Given the description of an element on the screen output the (x, y) to click on. 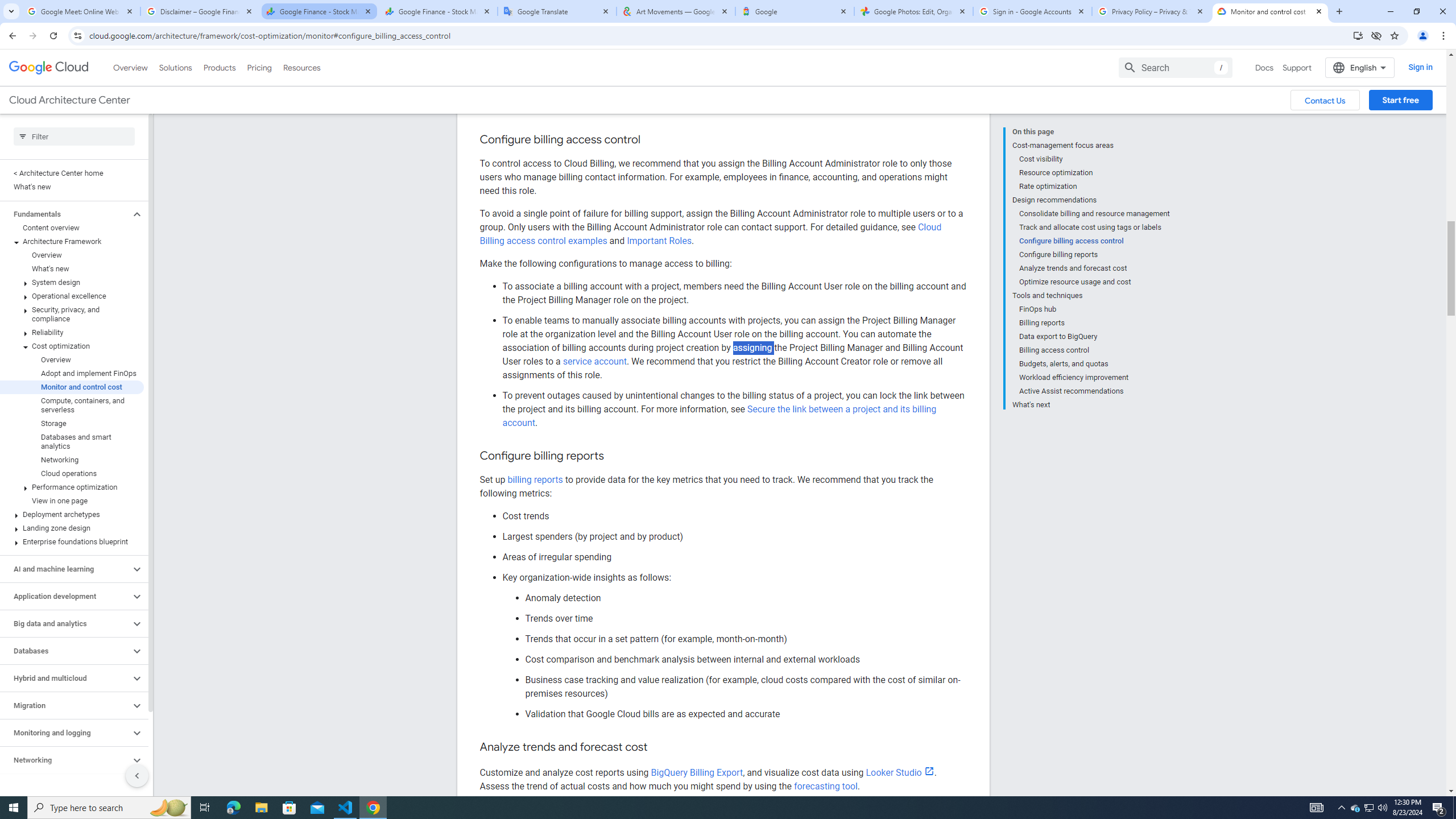
Docs, selected (1264, 18)
Google (794, 11)
